Given the description of an element on the screen output the (x, y) to click on. 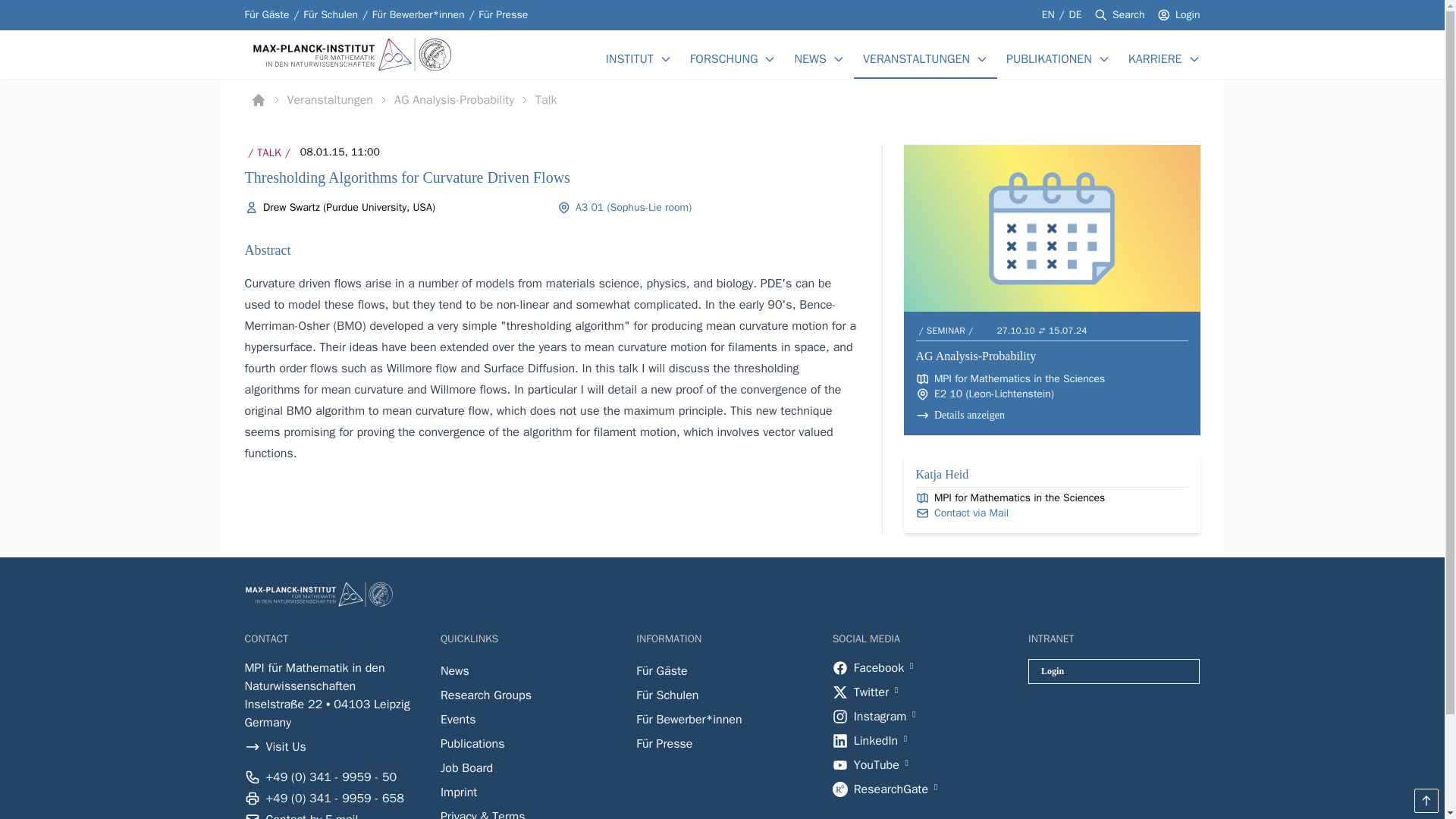
INSTITUT (629, 58)
English (1050, 14)
FORSCHUNG (724, 58)
Search (1128, 14)
PUBLIKATIONEN (1049, 58)
DE (1074, 14)
VERANSTALTUNGEN (916, 58)
EN (1050, 14)
Forschung (724, 58)
Institut (629, 58)
NEWS (721, 99)
German (810, 58)
Login (1074, 14)
